Given the description of an element on the screen output the (x, y) to click on. 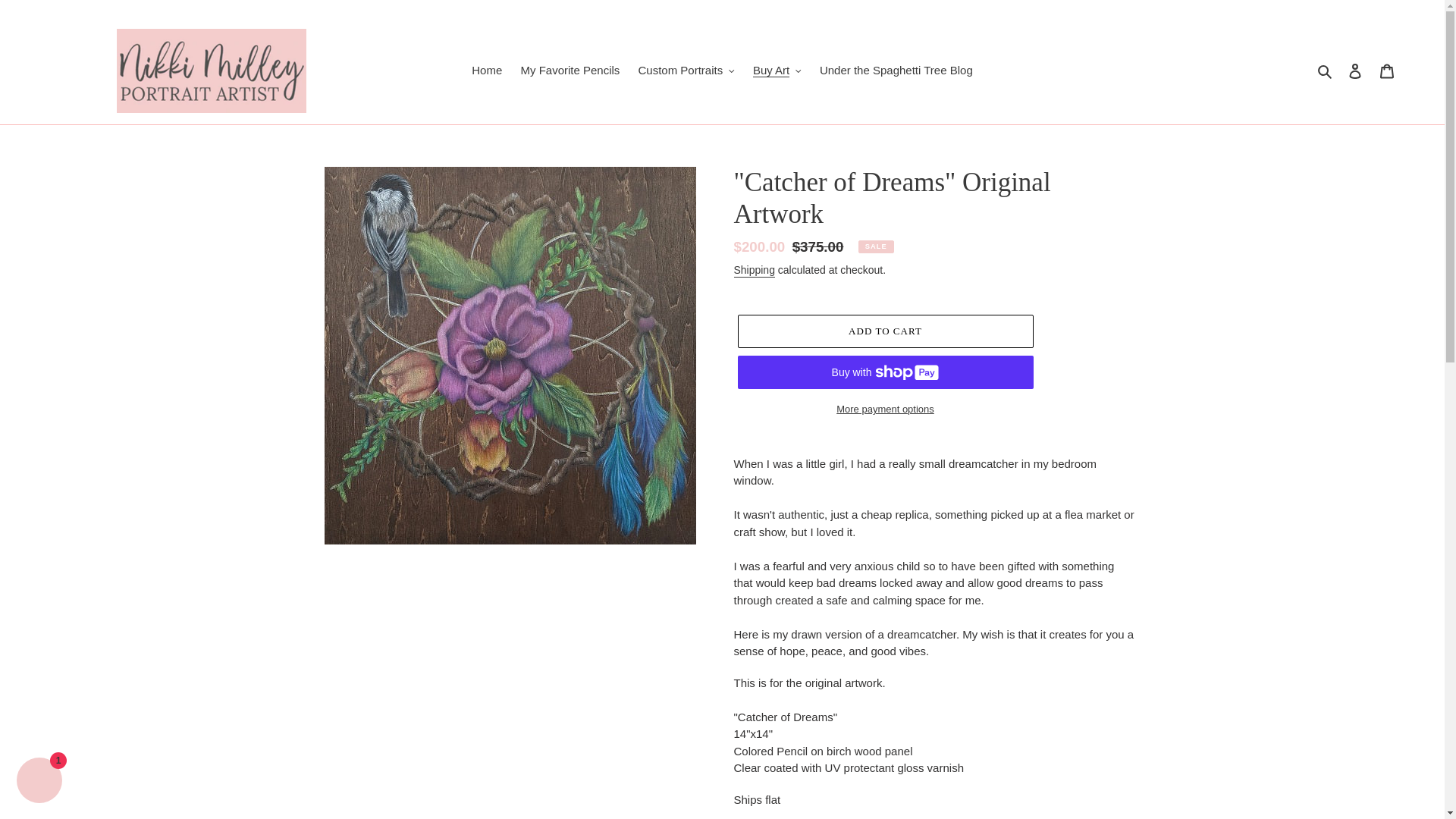
Search (1326, 70)
Custom Portraits (686, 70)
Cart (1387, 70)
Under the Spaghetti Tree Blog (895, 70)
Log in (1355, 70)
My Favorite Pencils (569, 70)
Shopify online store chat (38, 781)
Home (486, 70)
Buy Art (777, 70)
